Given the description of an element on the screen output the (x, y) to click on. 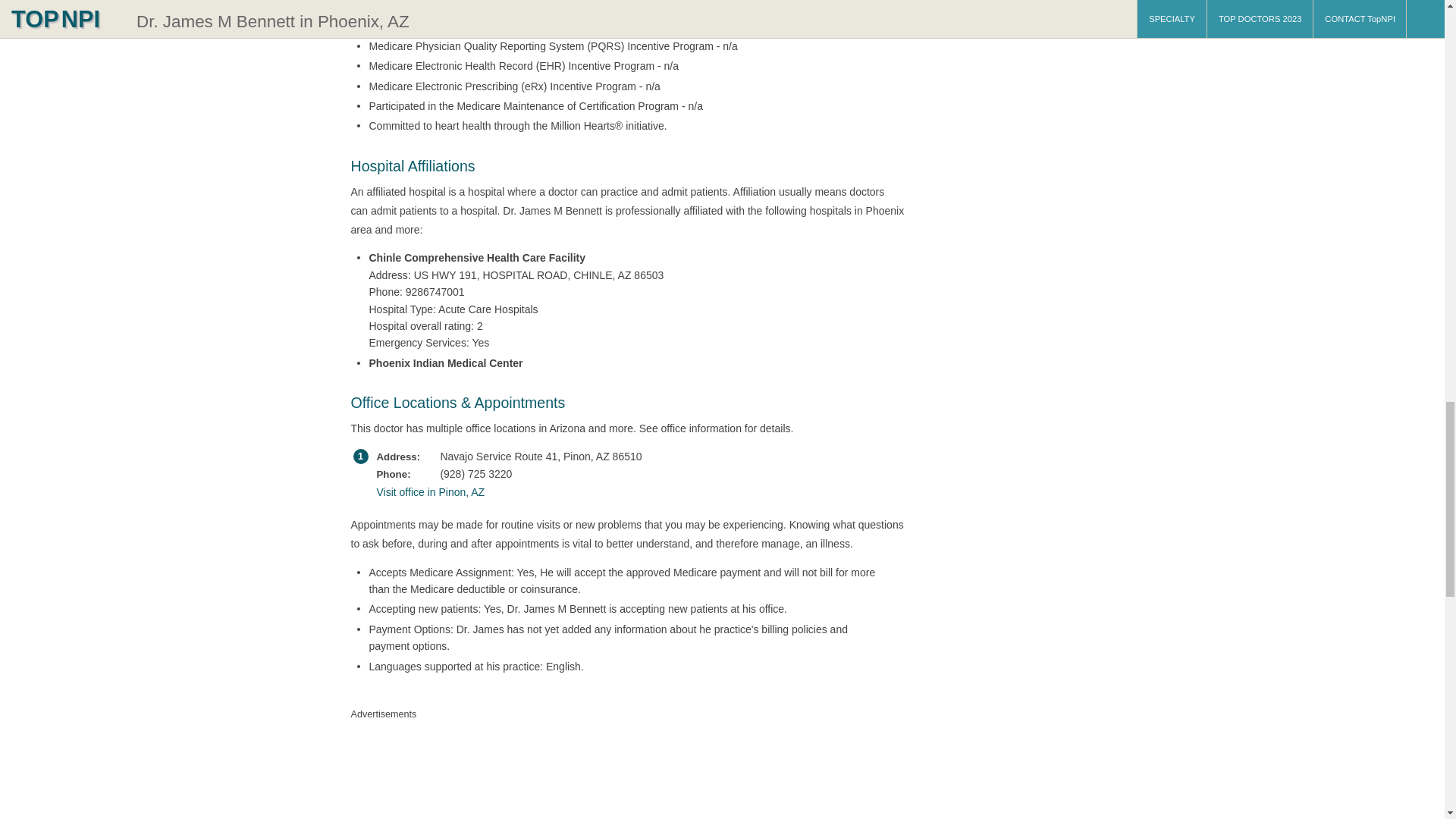
Office in Pinon, AZ (622, 492)
Visit office in Pinon, AZ (622, 492)
